Given the description of an element on the screen output the (x, y) to click on. 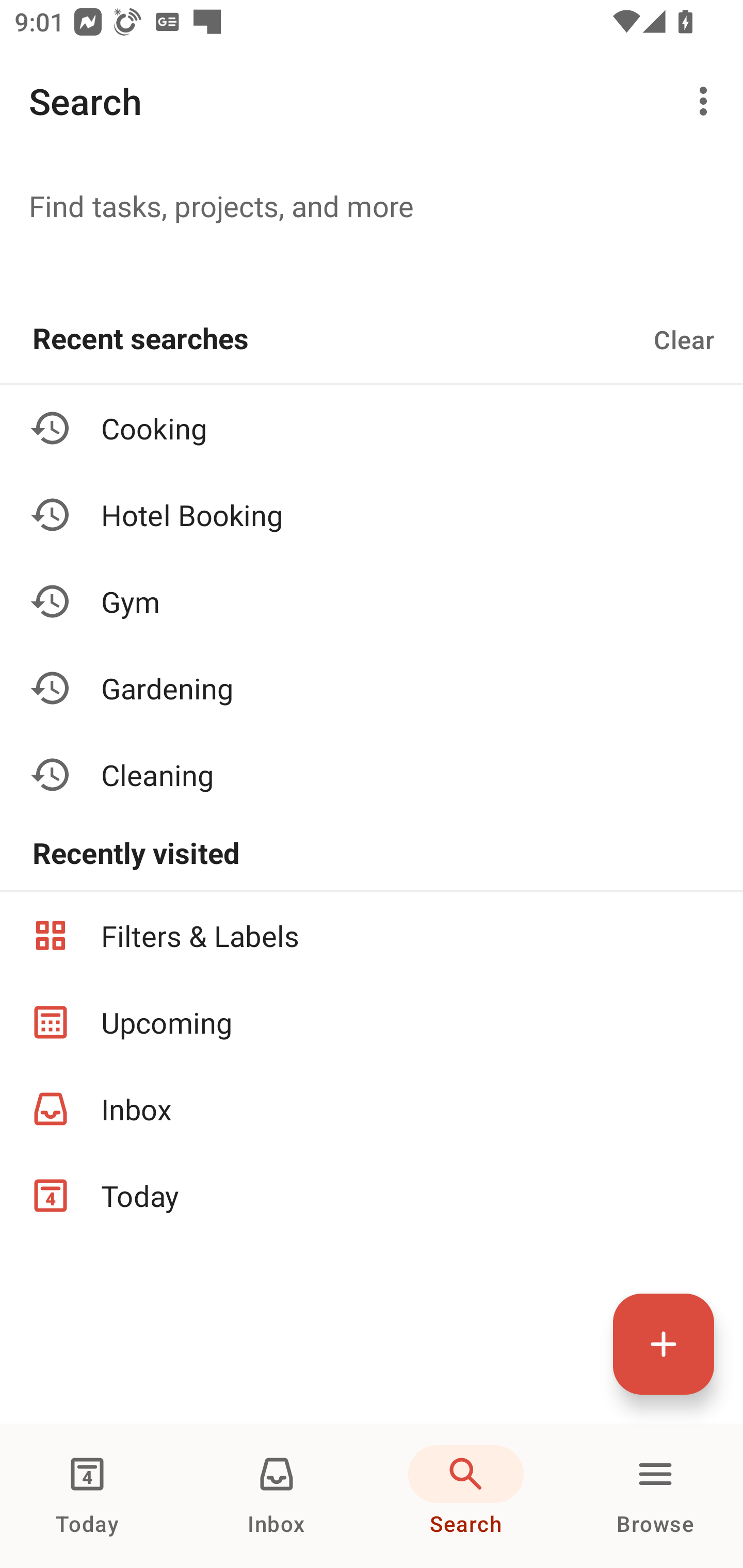
Search More options (371, 100)
More options (706, 101)
Find tasks, projects, and more (371, 205)
Clear (683, 339)
Cooking (371, 427)
Hotel Booking (371, 514)
Gym (371, 601)
Gardening (371, 687)
Cleaning (371, 774)
Filters & Labels (371, 935)
Upcoming (371, 1022)
Inbox (371, 1109)
Today (371, 1195)
Quick add (663, 1343)
Today (87, 1495)
Inbox (276, 1495)
Browse (655, 1495)
